Given the description of an element on the screen output the (x, y) to click on. 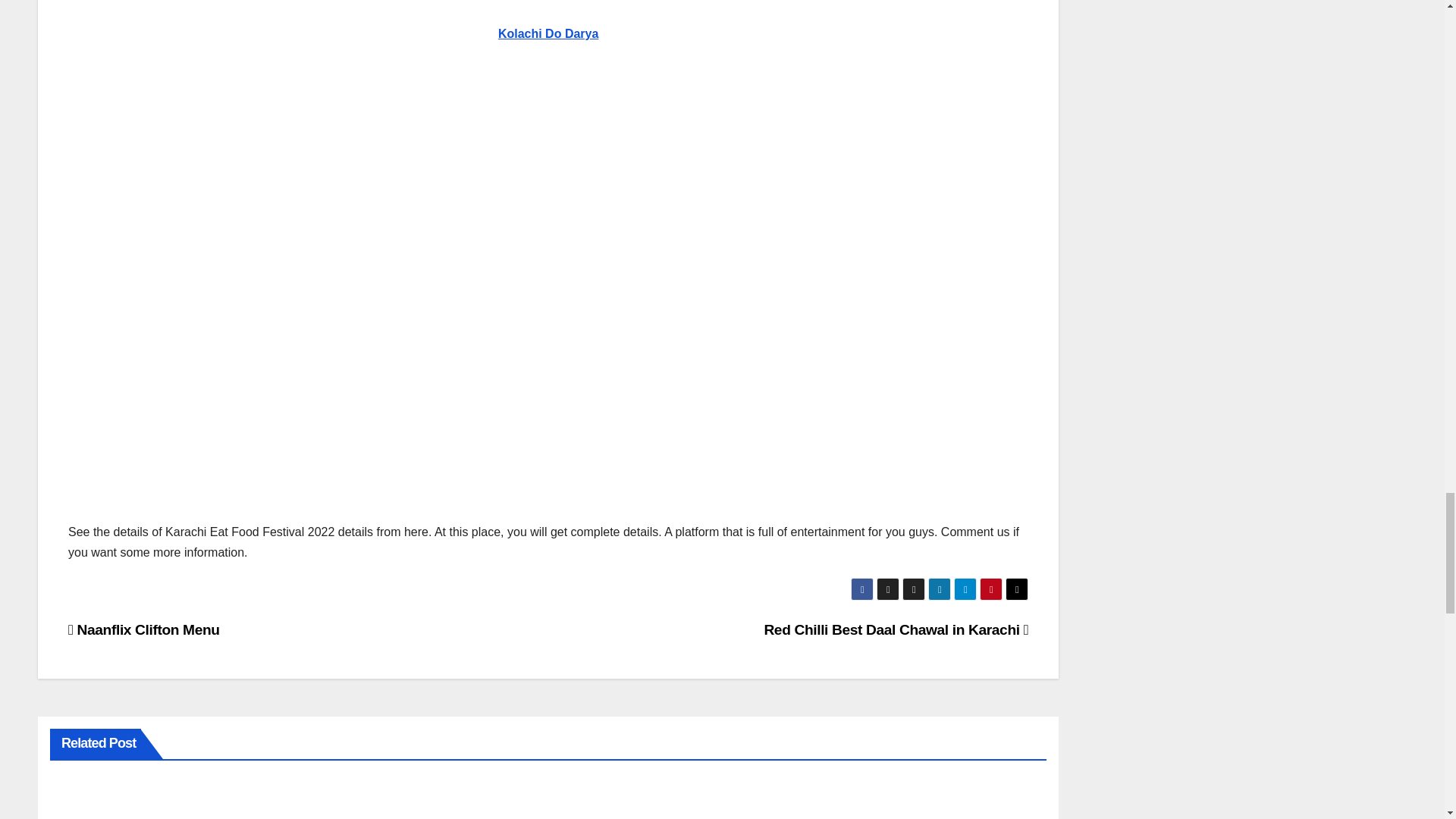
Kolachi Do Darya (547, 33)
Naanflix Clifton Menu (143, 629)
Red Chilli Best Daal Chawal in Karachi (894, 629)
